Given the description of an element on the screen output the (x, y) to click on. 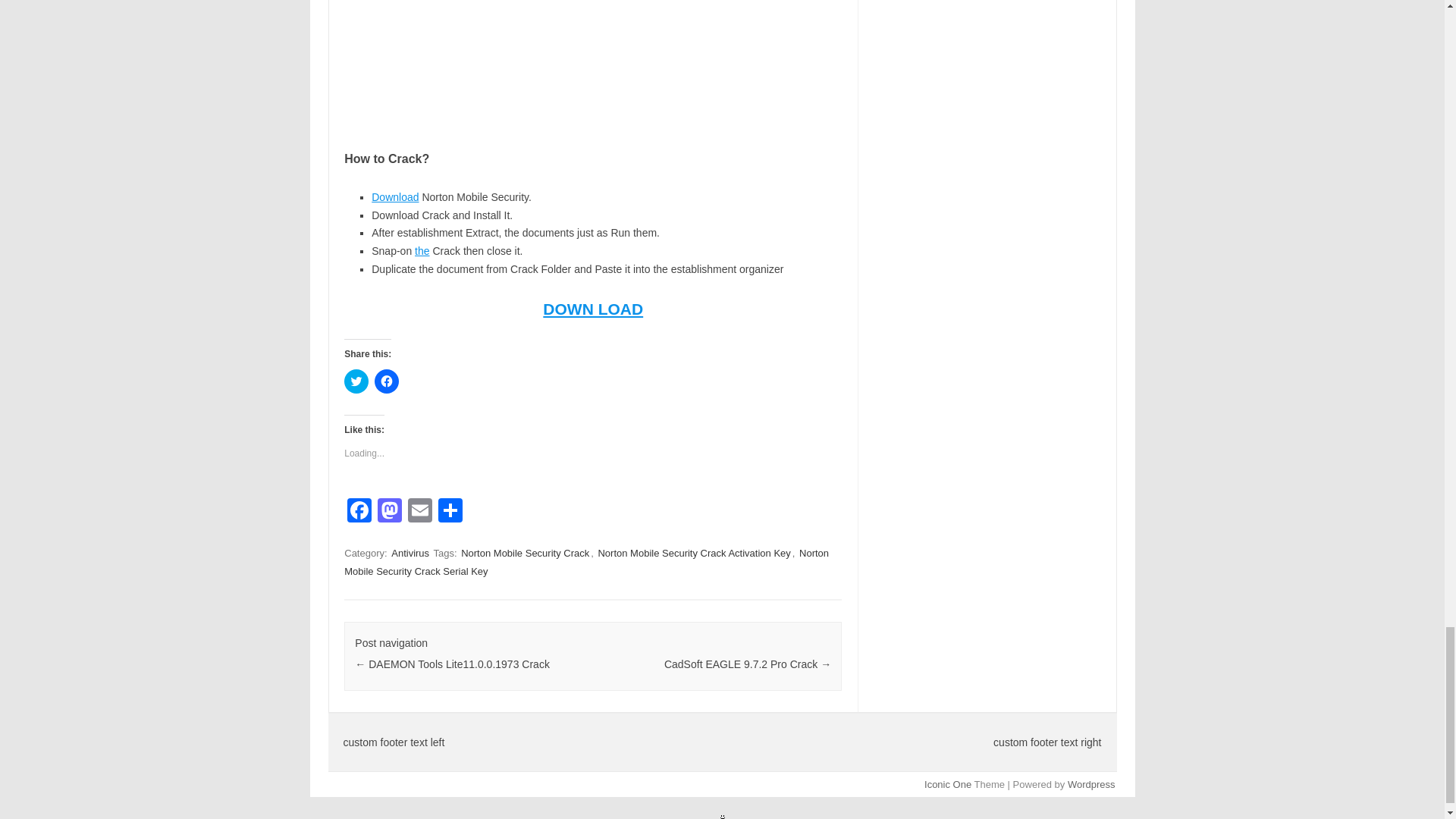
Mastodon (389, 511)
Click to share on Facebook (386, 381)
Click to share on Twitter (355, 381)
Email (419, 511)
How to Install Norton Security on Mobile Phone (592, 61)
Facebook (358, 511)
Email (419, 511)
the (421, 250)
Mastodon (389, 511)
DOWN LOAD (593, 308)
